Given the description of an element on the screen output the (x, y) to click on. 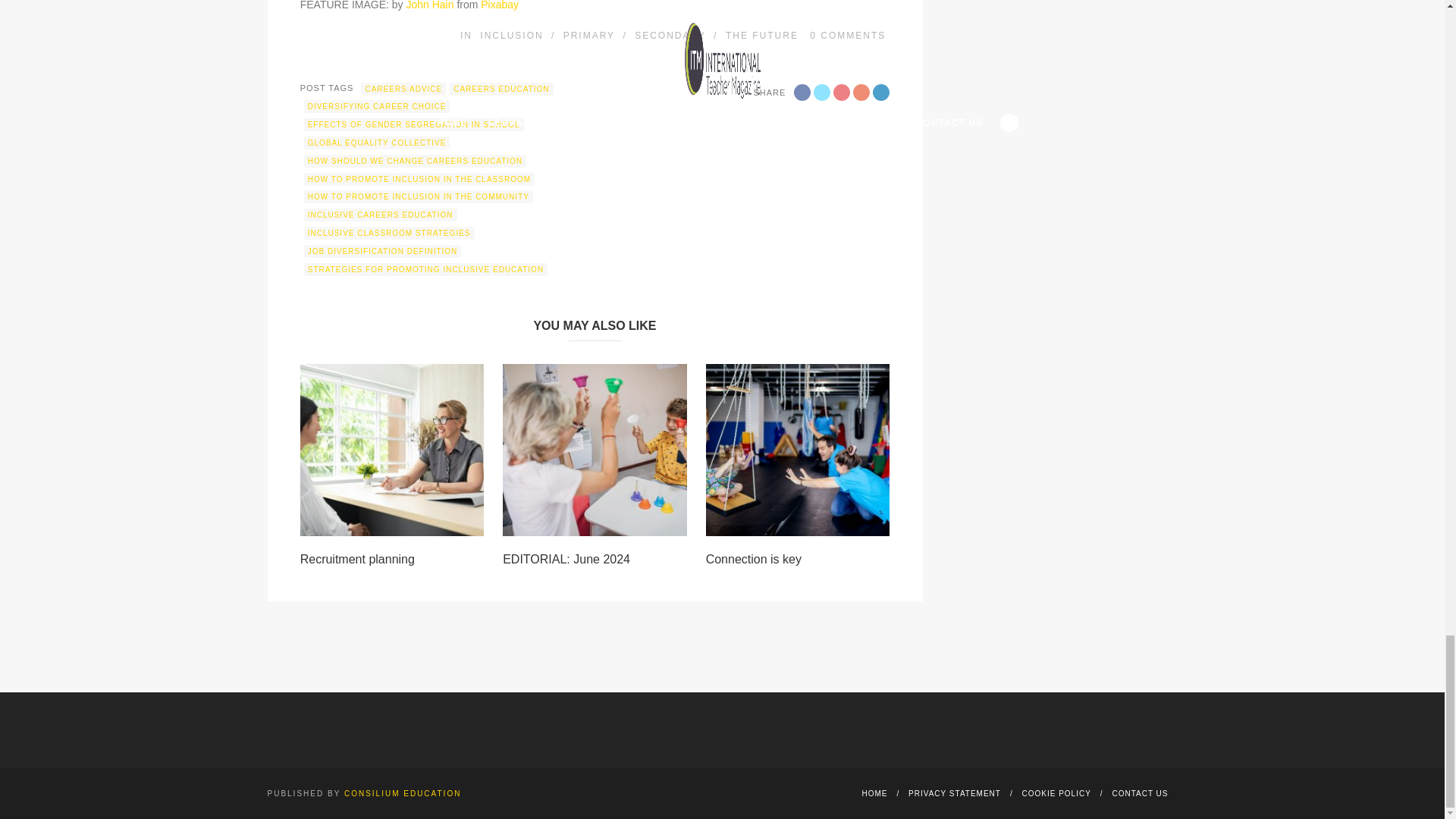
Pinterest (861, 92)
LinkedIn (880, 92)
Facebook (801, 92)
Twitter (821, 92)
